Given the description of an element on the screen output the (x, y) to click on. 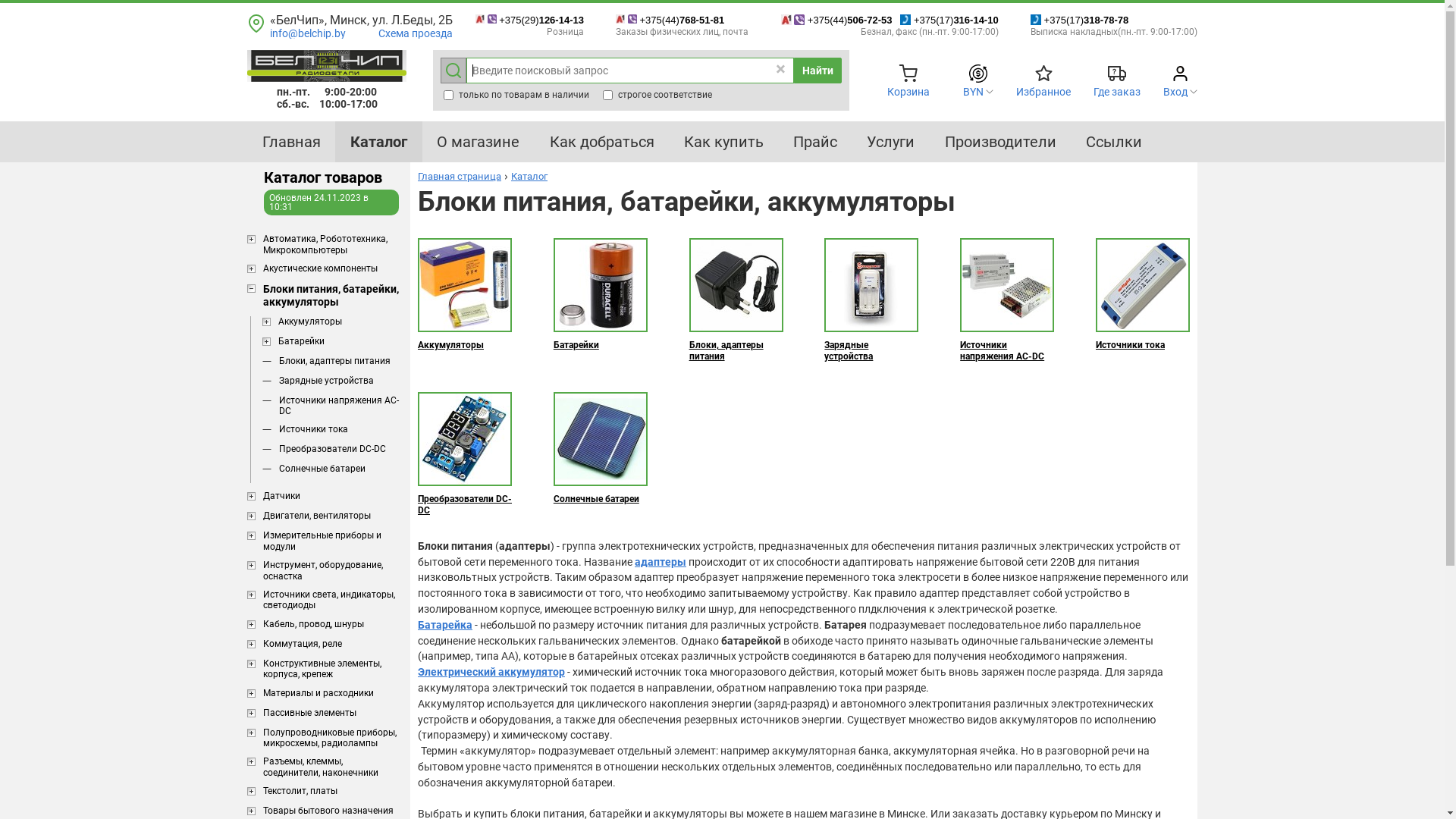
BYN Element type: text (973, 91)
on Element type: text (607, 95)
info@belchip.by Element type: text (307, 33)
on Element type: text (448, 95)
